Given the description of an element on the screen output the (x, y) to click on. 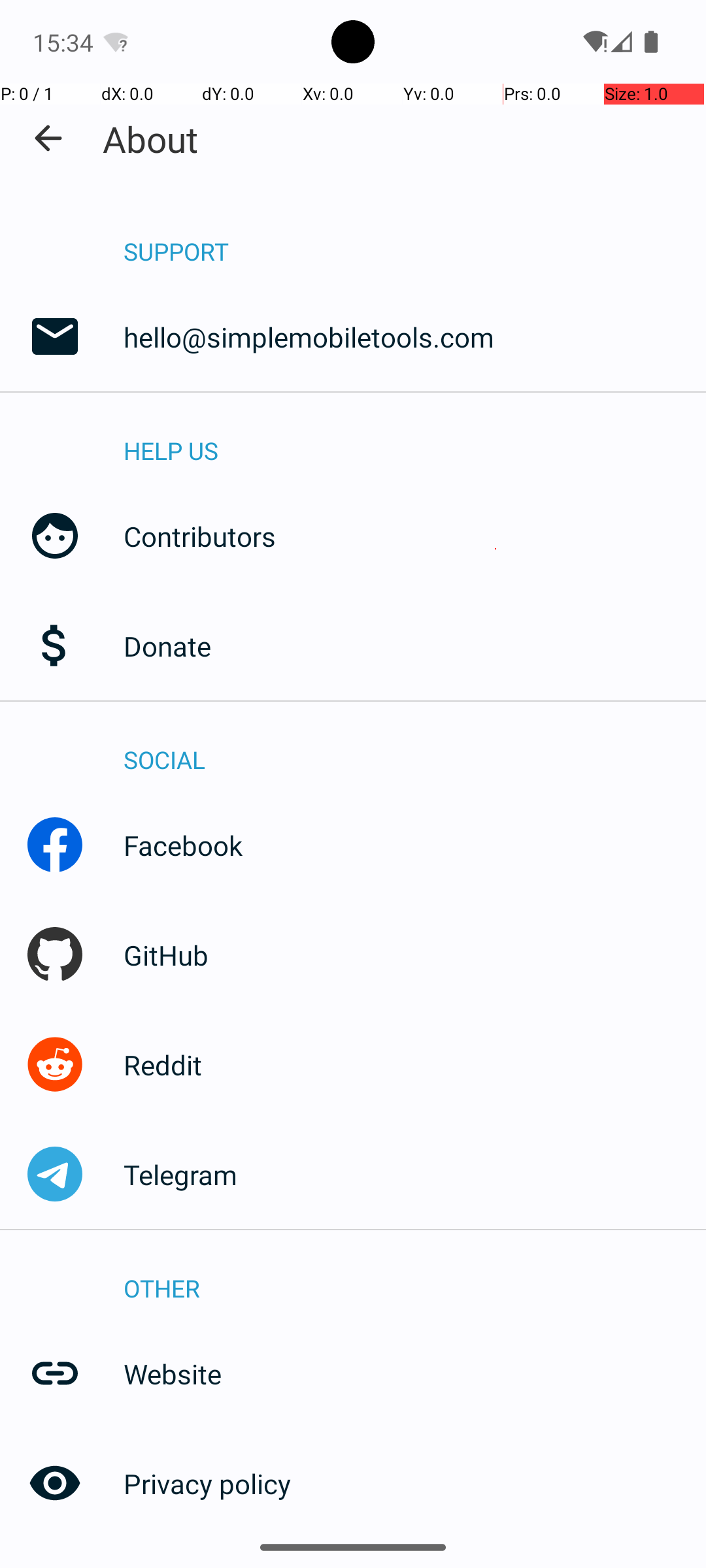
Website Element type: android.widget.TextView (414, 1373)
